Given the description of an element on the screen output the (x, y) to click on. 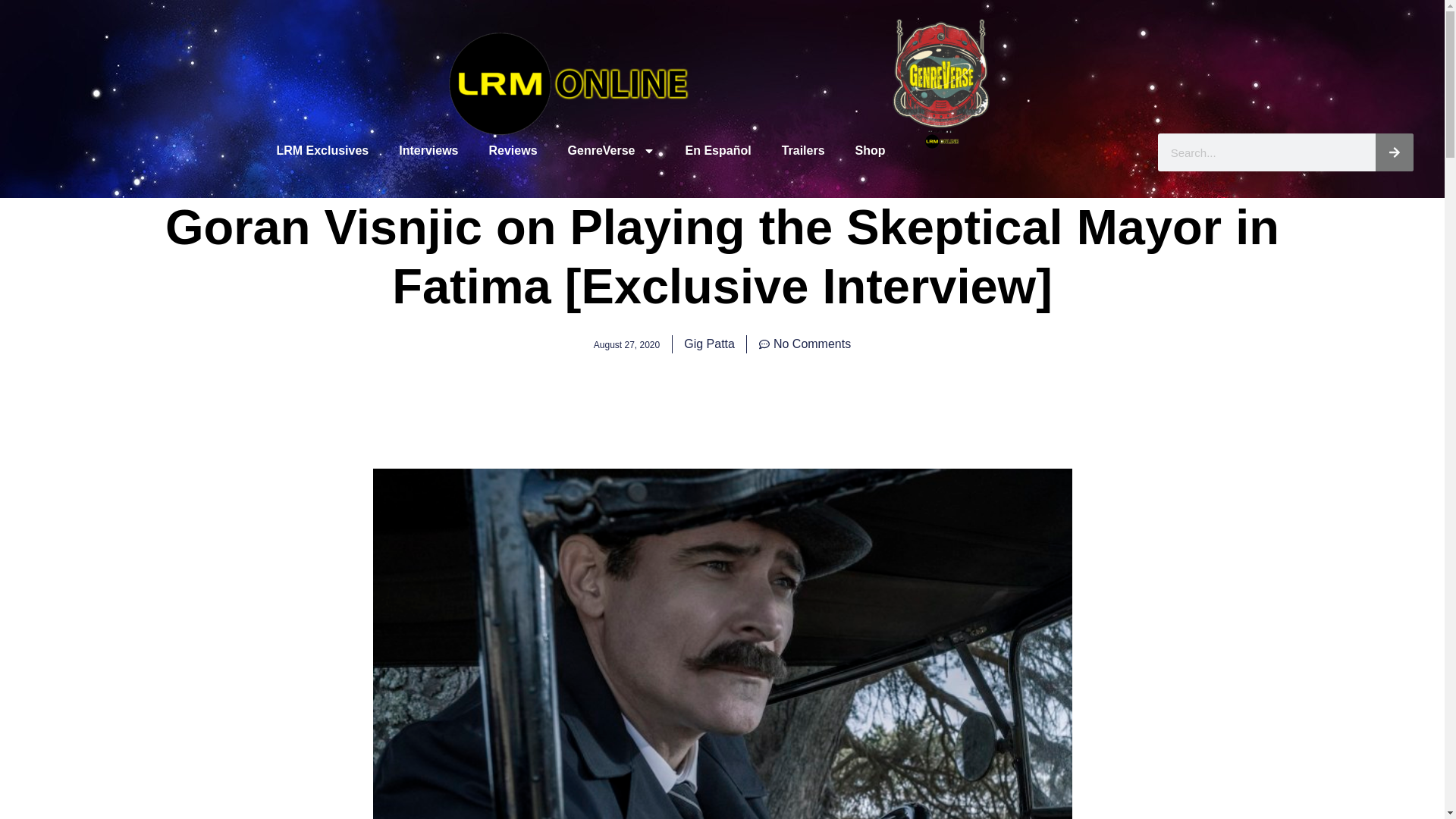
Shop (870, 150)
Reviews (513, 150)
Trailers (803, 150)
Interviews (428, 150)
LRM Exclusives (322, 150)
No Comments (804, 343)
Gig Patta (709, 343)
GenreVerse (611, 150)
August 27, 2020 (626, 343)
